Given the description of an element on the screen output the (x, y) to click on. 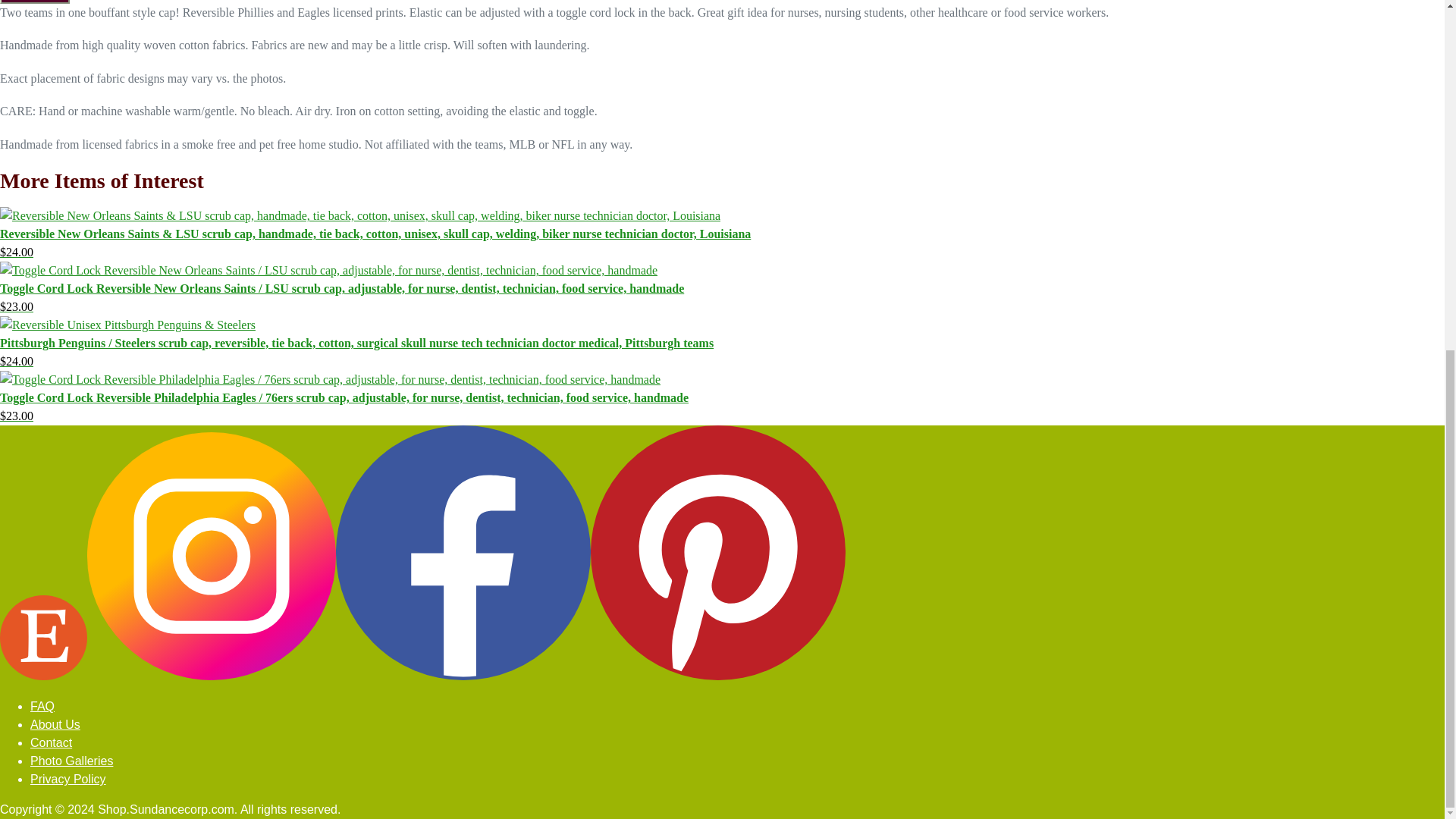
FAQ (42, 706)
Add to Cart (34, 2)
Photo Galleries (71, 760)
Add to Cart (34, 2)
Privacy Policy (68, 779)
Contact (50, 742)
About Us (55, 724)
